Given the description of an element on the screen output the (x, y) to click on. 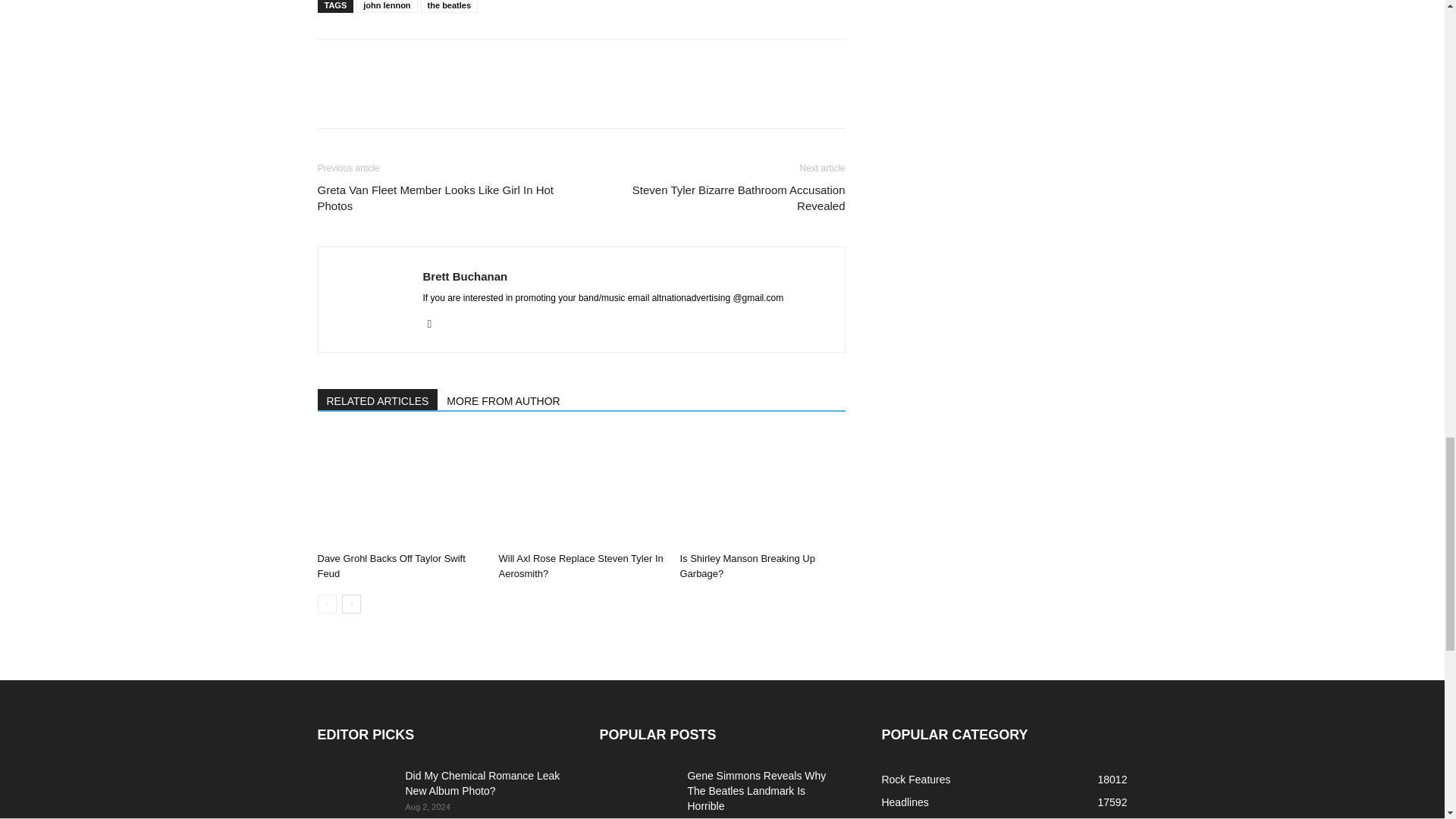
bottomFacebookLike (430, 63)
